Given the description of an element on the screen output the (x, y) to click on. 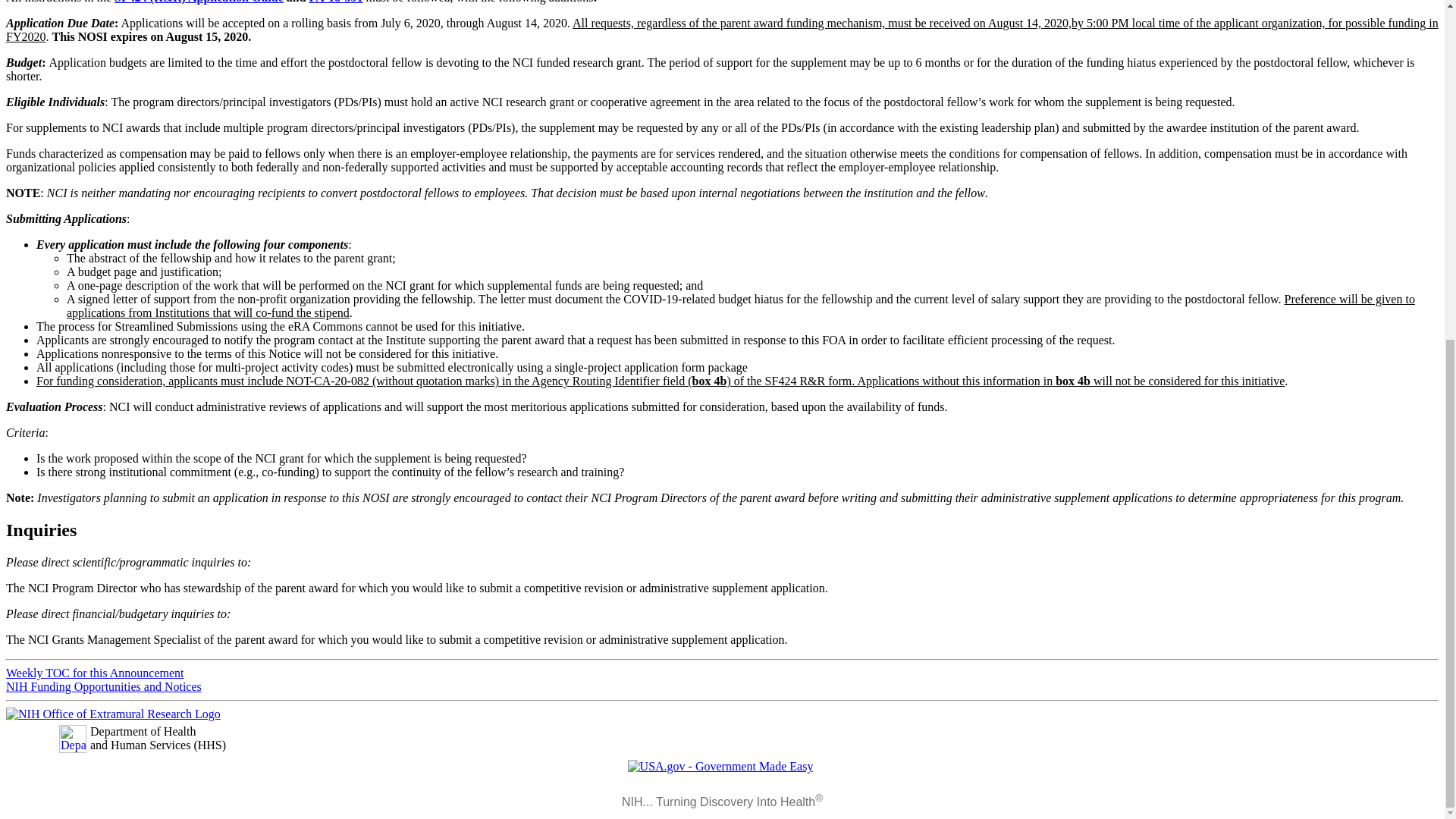
NIH Funding Opportunities and Notices (103, 686)
PA-18-591 (335, 2)
Weekly TOC for this Announcement (94, 672)
